Given the description of an element on the screen output the (x, y) to click on. 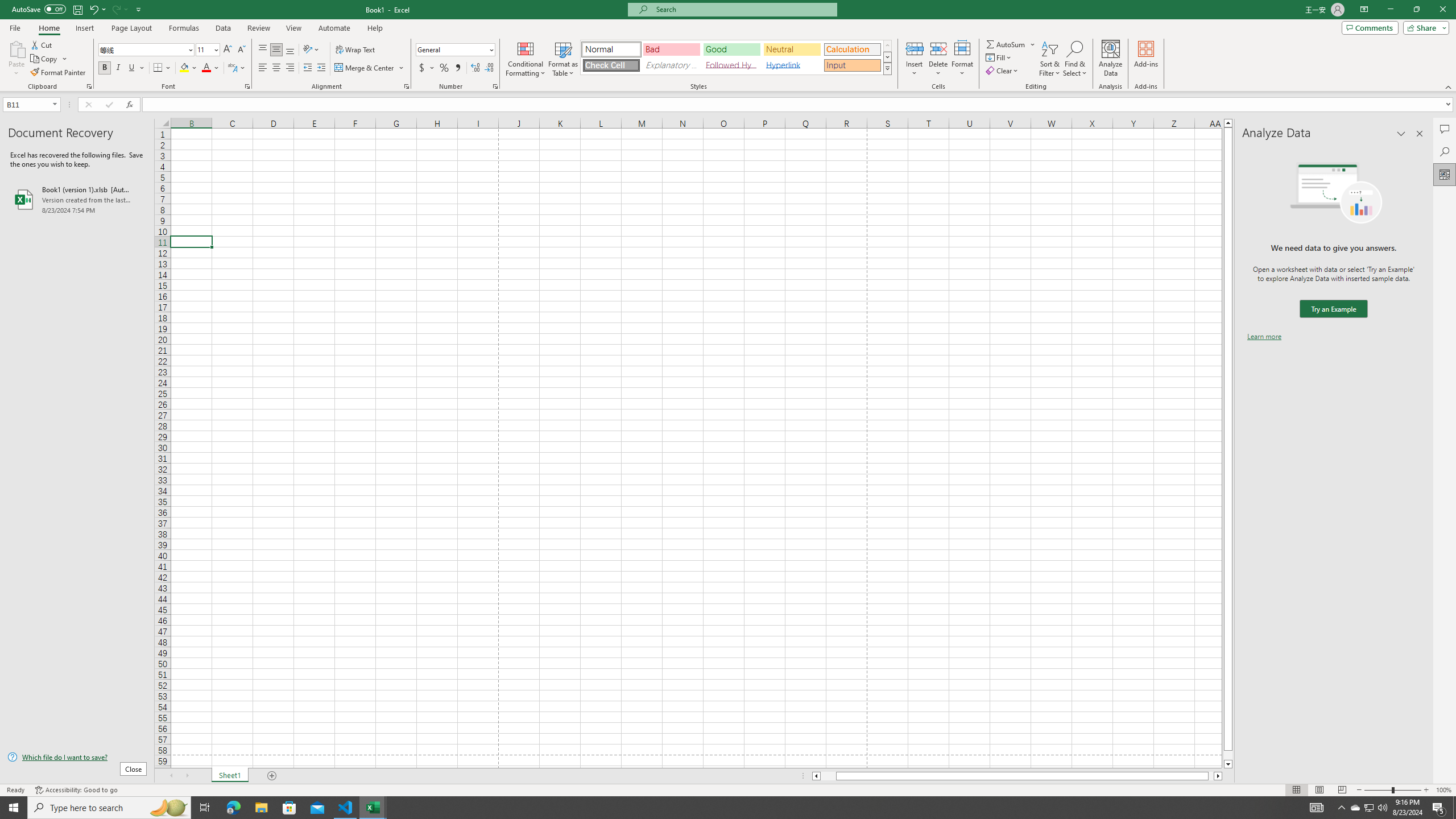
Increase Indent (320, 67)
Bold (104, 67)
AutomationID: CellStylesGallery (736, 57)
Paste (16, 48)
Delete (938, 58)
Explanatory Text (671, 65)
Check Cell (611, 65)
Top Align (262, 49)
Delete Cells... (938, 48)
